Given the description of an element on the screen output the (x, y) to click on. 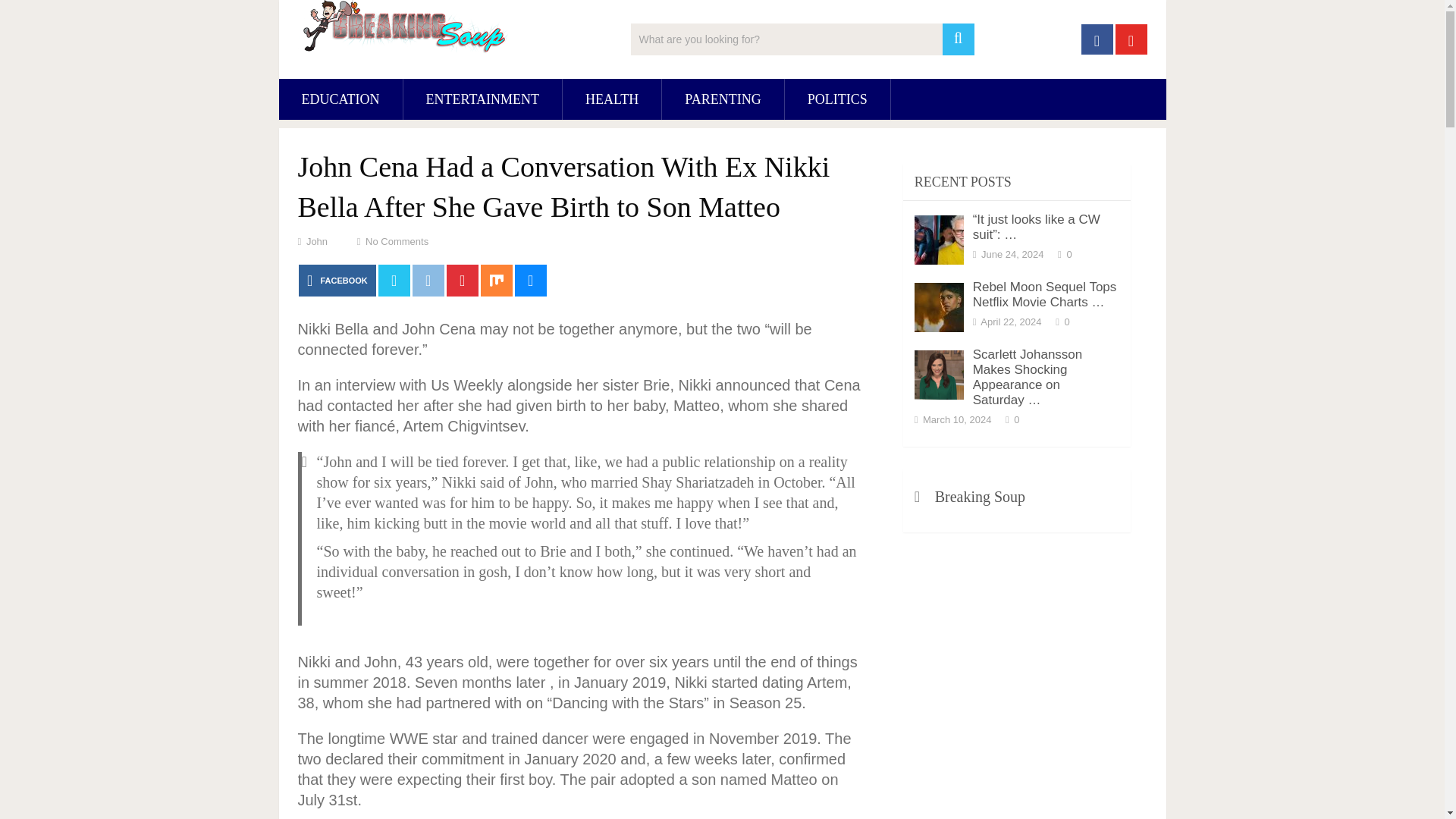
John (316, 241)
No Comments (396, 241)
PARENTING (722, 98)
ENTERTAINMENT (482, 98)
EDUCATION (341, 98)
FACEBOOK (336, 280)
HEALTH (611, 98)
Posts by John (316, 241)
POLITICS (836, 98)
